Given the description of an element on the screen output the (x, y) to click on. 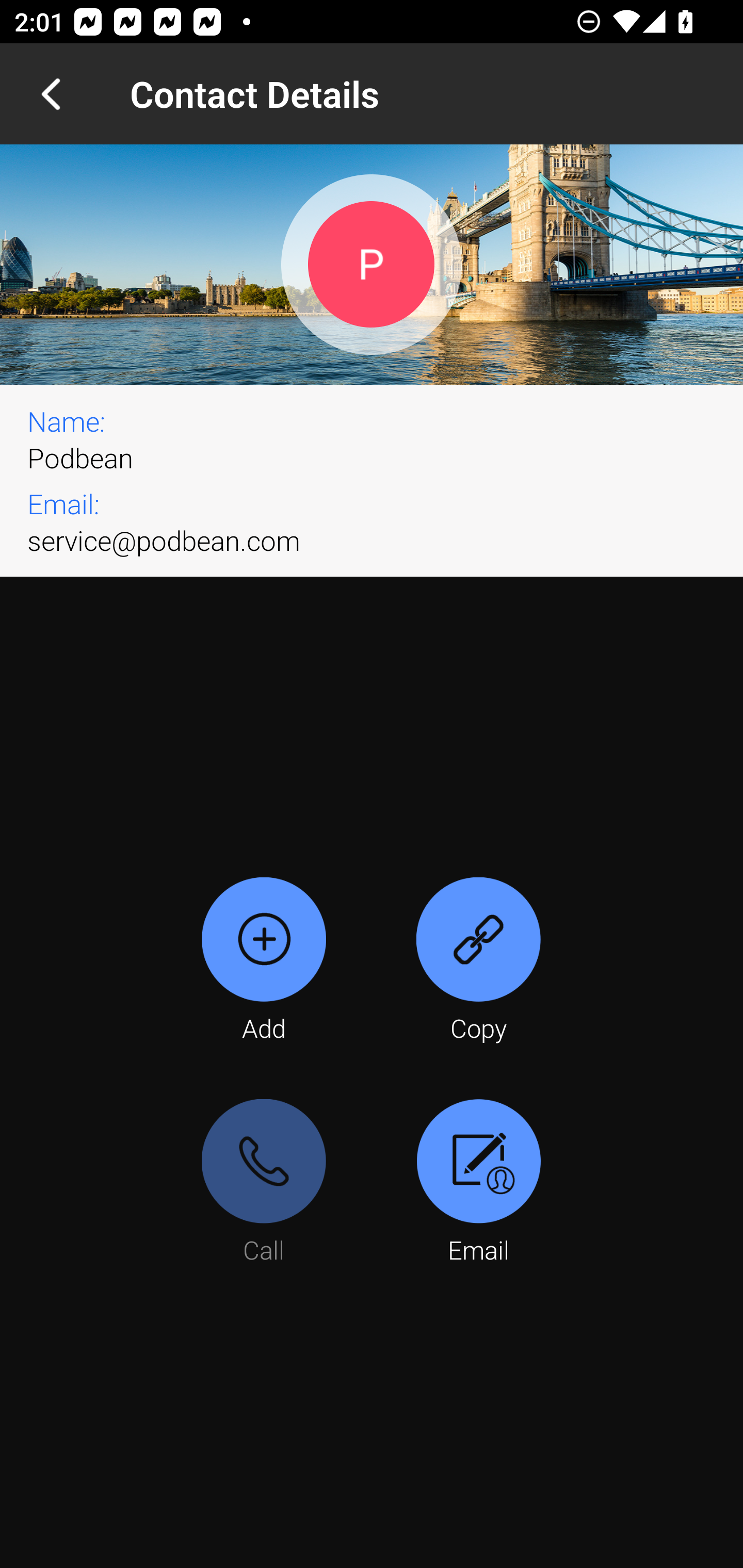
Navigate up (50, 93)
Add (264, 961)
Copy (478, 961)
Call (264, 1182)
Email (478, 1182)
